Given the description of an element on the screen output the (x, y) to click on. 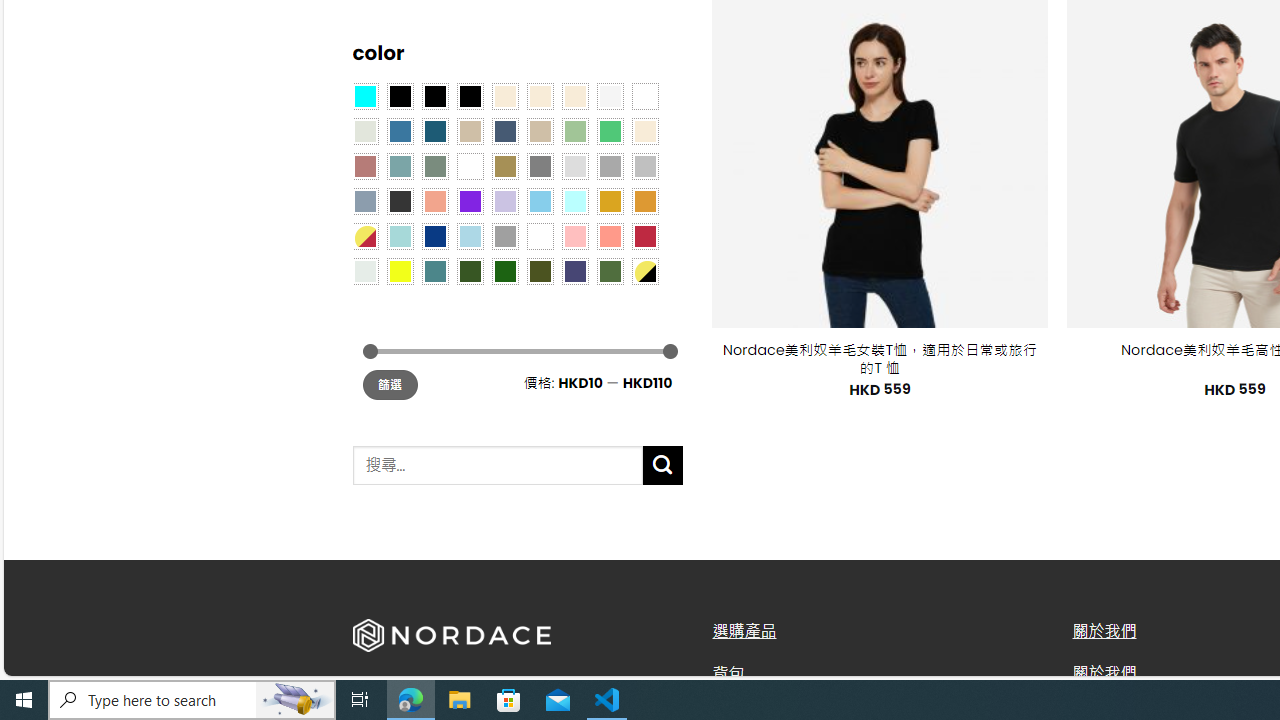
Cream (574, 95)
